Given the description of an element on the screen output the (x, y) to click on. 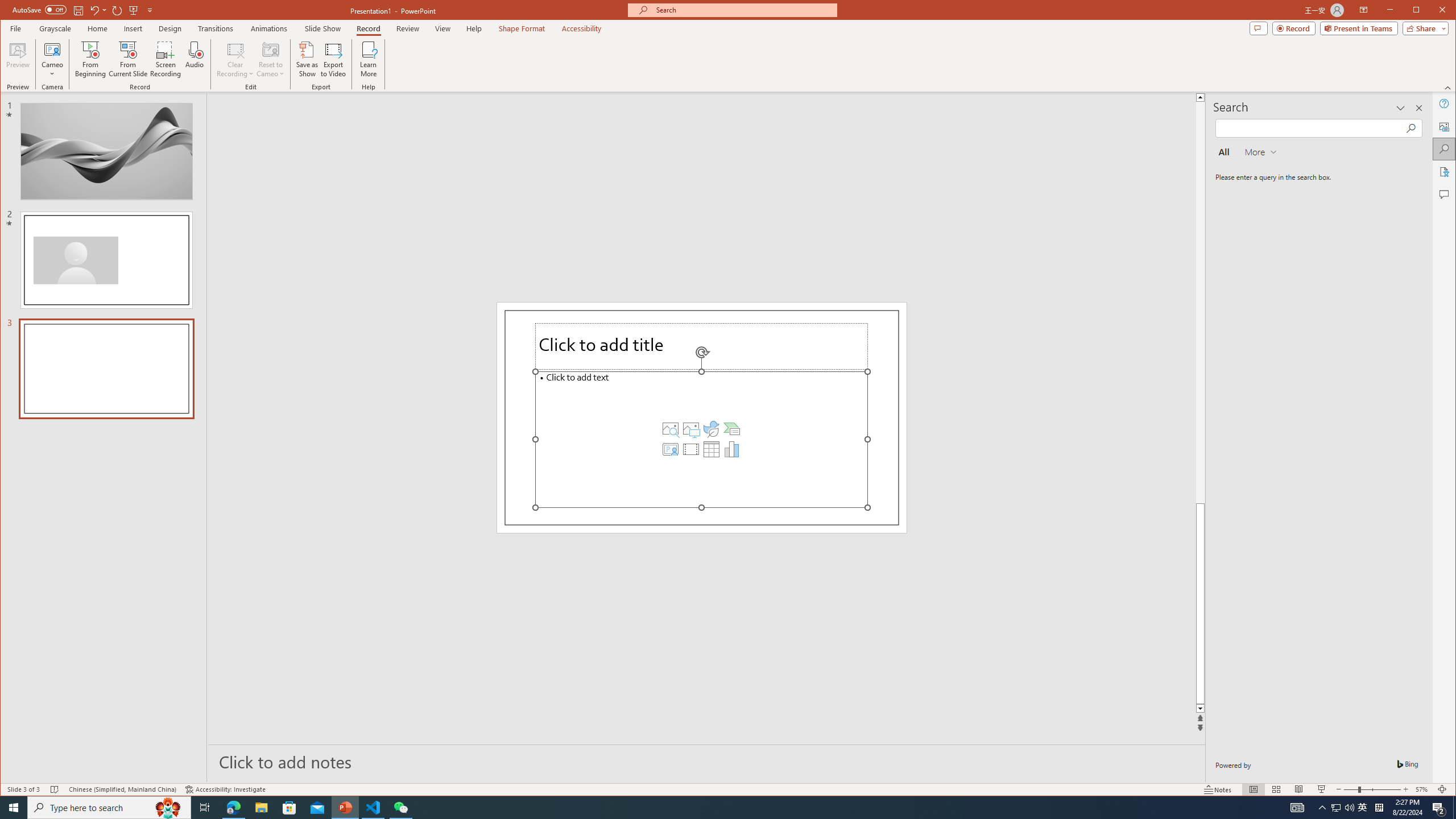
Maximize (1432, 11)
Insert Table (710, 449)
Learn More (368, 59)
Insert an Icon (710, 428)
